Given the description of an element on the screen output the (x, y) to click on. 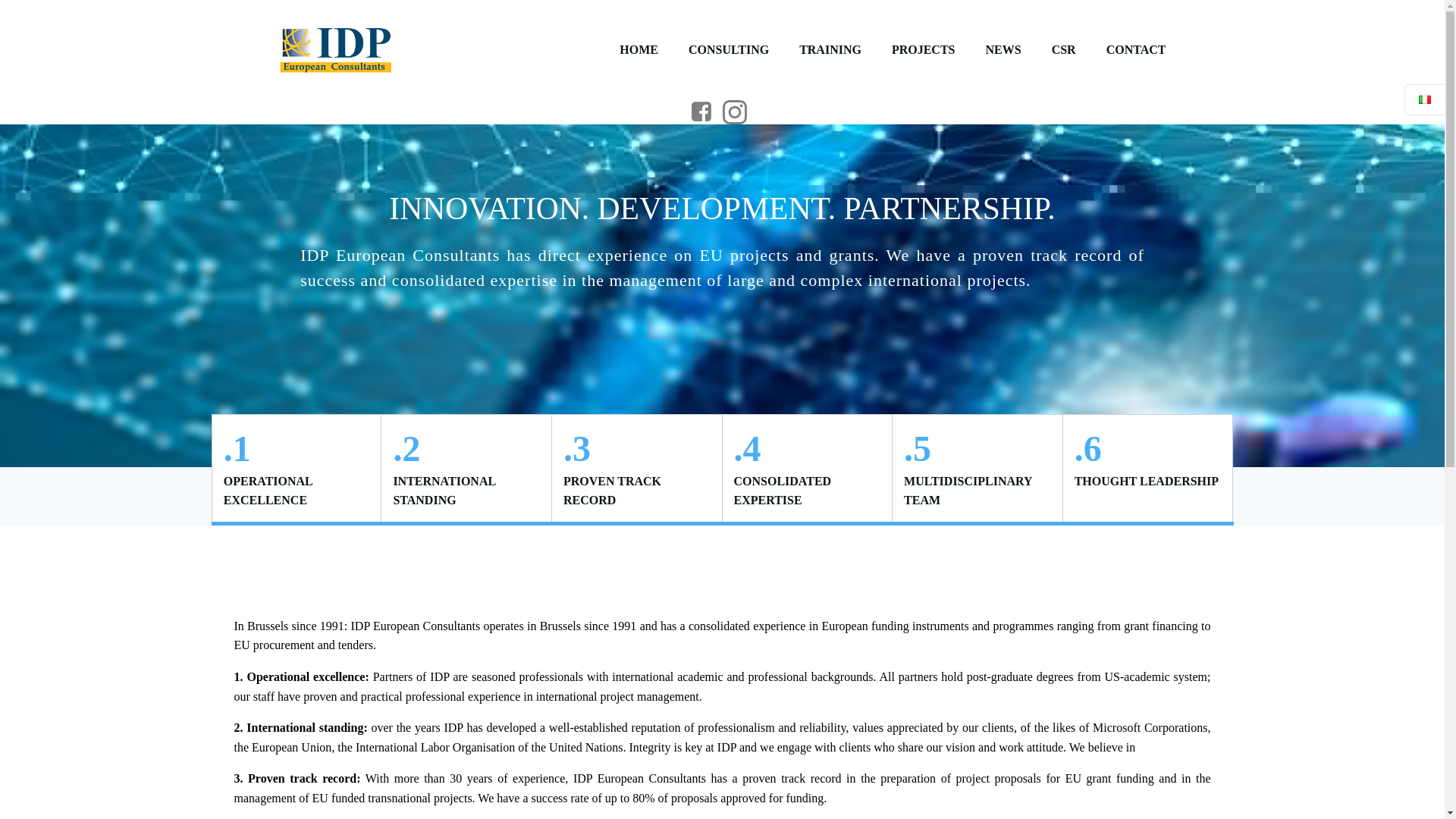
HOME (639, 49)
CONTACT (1136, 49)
TRAINING (830, 49)
CSR (1063, 49)
PROJECTS (923, 49)
NEWS (1003, 49)
CONSULTING (728, 49)
